Given the description of an element on the screen output the (x, y) to click on. 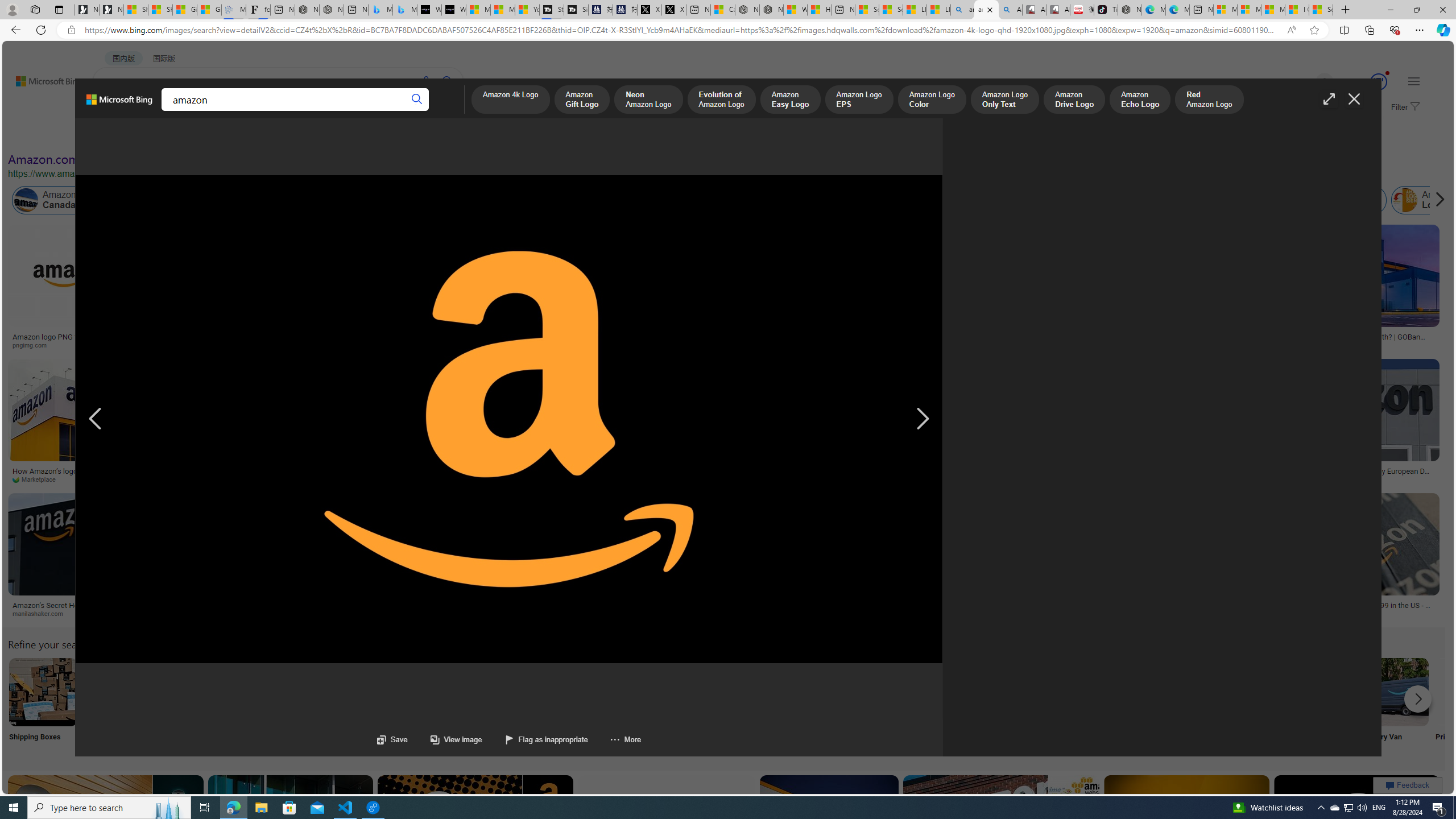
PC World (910, 479)
Huge shark washes ashore at New York City beach | Watch (818, 9)
AutomationID: navl (95, 418)
Settings and quick links (1413, 80)
Amazon Log into My Account Log into My Account (268, 706)
Amazon (466, 605)
cordcuttersnews.com (233, 612)
